Given the description of an element on the screen output the (x, y) to click on. 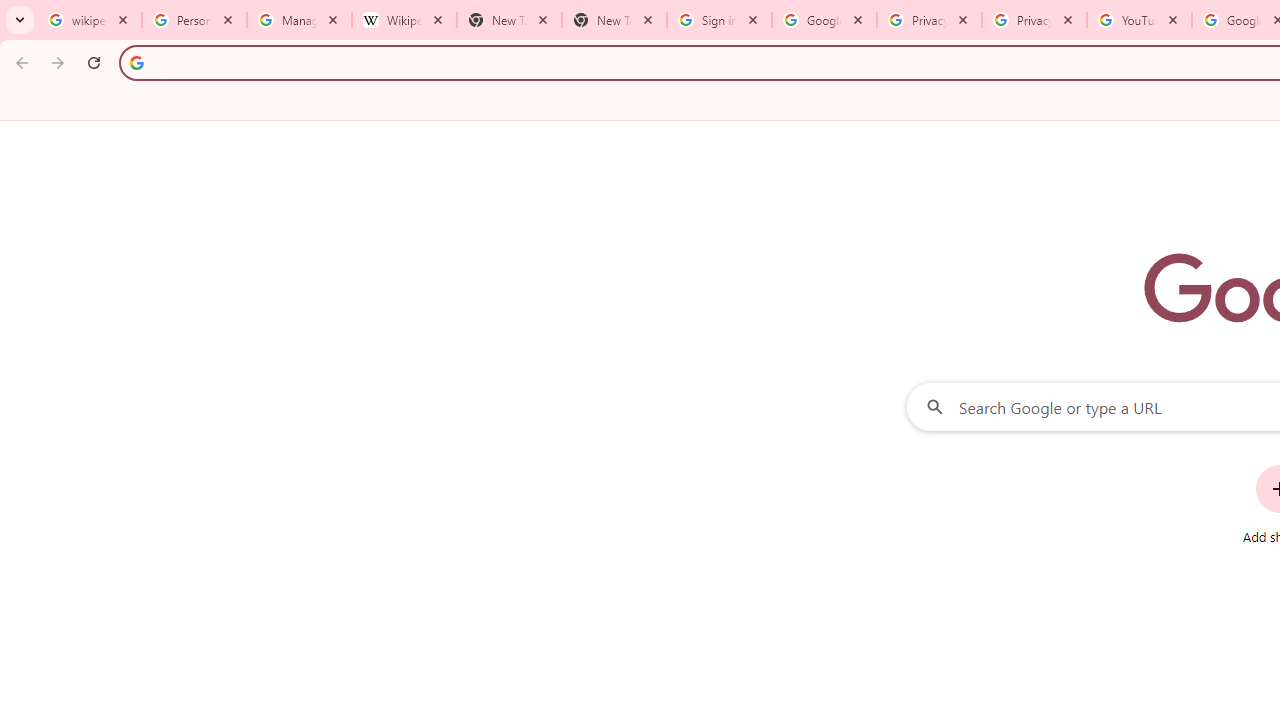
Manage your Location History - Google Search Help (299, 20)
Sign in - Google Accounts (718, 20)
Google Drive: Sign-in (823, 20)
Wikipedia:Edit requests - Wikipedia (404, 20)
Personalization & Google Search results - Google Search Help (194, 20)
